Given the description of an element on the screen output the (x, y) to click on. 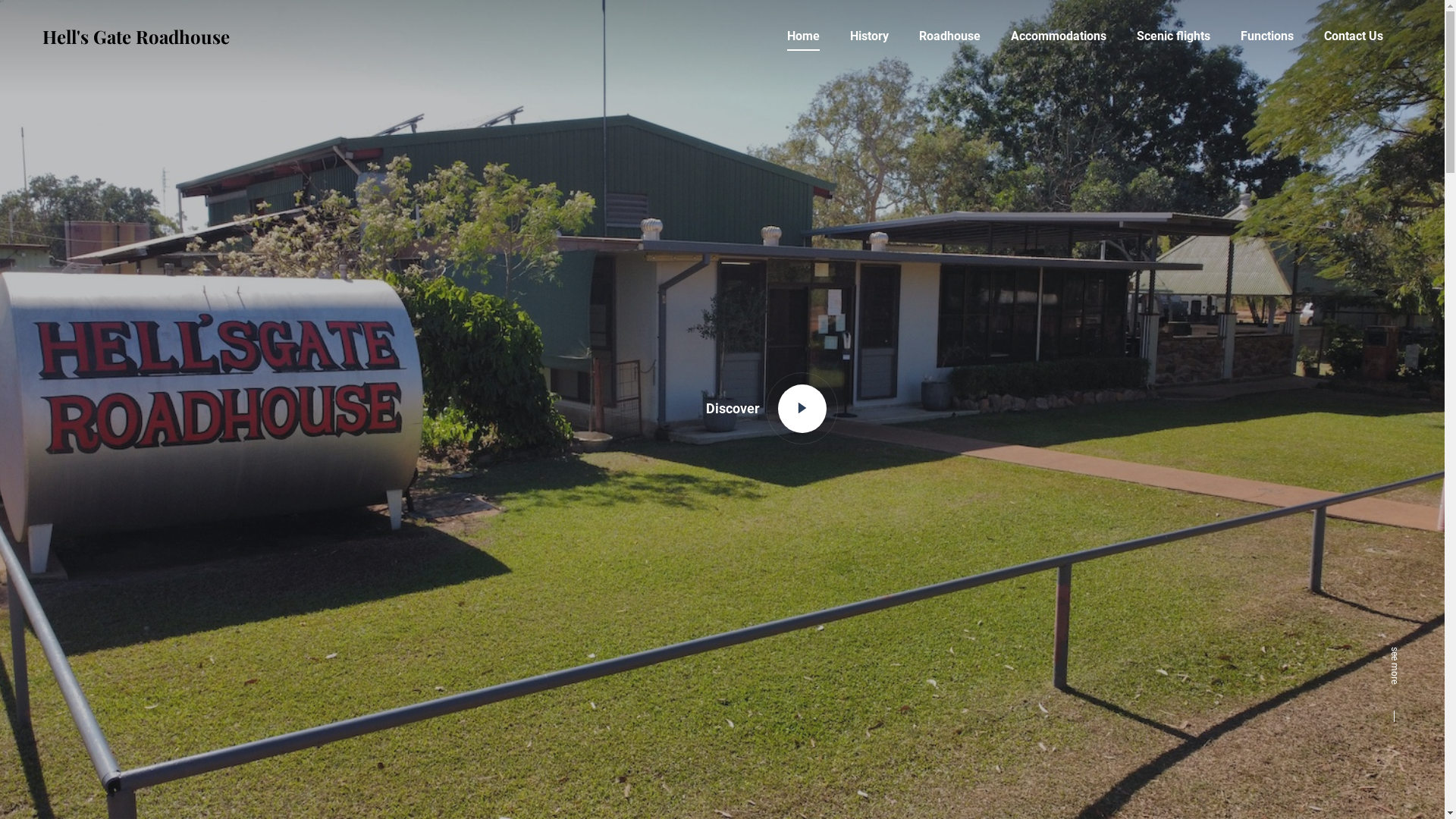
Roadhouse Element type: text (949, 36)
Hell's Gate Roadhouse Element type: text (135, 36)
Home Element type: text (803, 36)
see more Element type: text (1394, 683)
Functions Element type: text (1266, 36)
History Element type: text (869, 36)
Discover Element type: text (766, 409)
Contact Us Element type: text (1353, 36)
Accommodations Element type: text (1058, 36)
Scenic flights Element type: text (1173, 36)
